Given the description of an element on the screen output the (x, y) to click on. 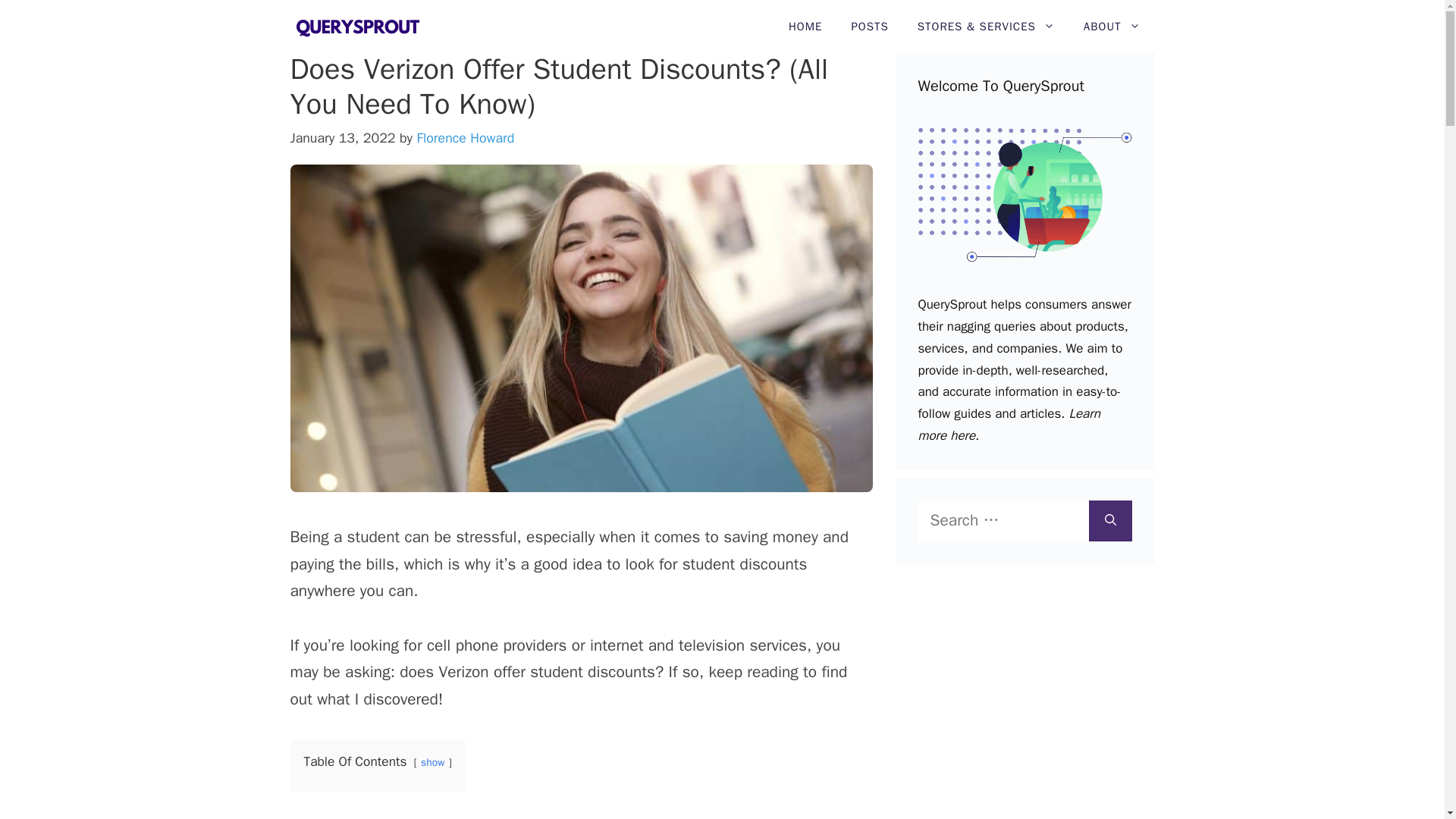
ABOUT (1111, 26)
Florence Howard (464, 137)
HOME (804, 26)
View all posts by Florence Howard (464, 137)
show (432, 762)
Search for: (1002, 520)
POSTS (868, 26)
